Given the description of an element on the screen output the (x, y) to click on. 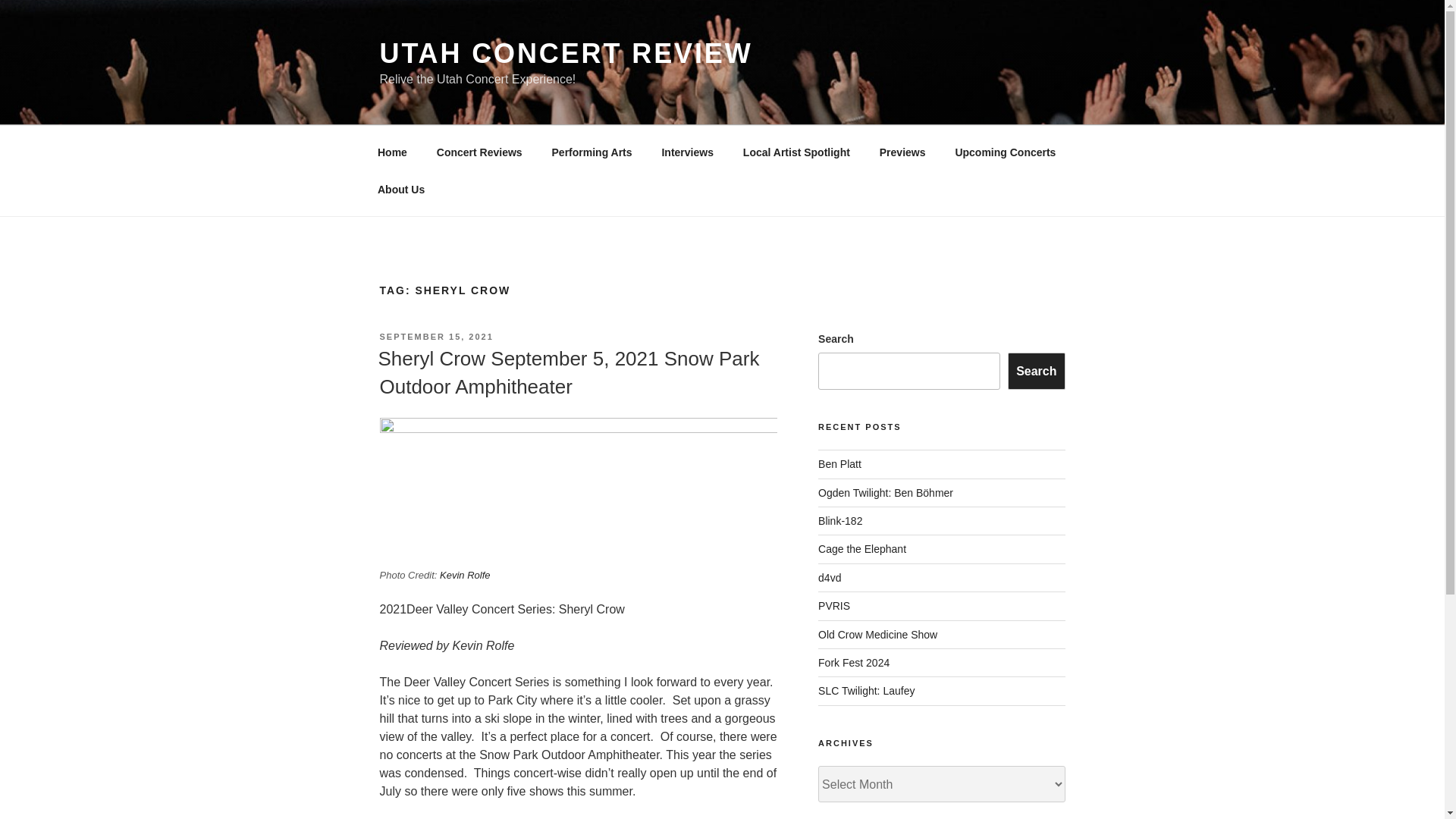
Home (392, 151)
Previews (902, 151)
Fork Fest 2024 (853, 662)
Ben Platt (839, 463)
Interviews (686, 151)
Kevin Rolfe (464, 574)
Sheryl Crow September 5, 2021 Snow Park Outdoor Amphitheater (567, 372)
d4vd (829, 577)
Cage the Elephant (861, 548)
UTAH CONCERT REVIEW (565, 52)
Concert Reviews (479, 151)
Local Artist Spotlight (796, 151)
PVRIS (834, 605)
Performing Arts (591, 151)
SLC Twilight: Laufey (866, 690)
